Given the description of an element on the screen output the (x, y) to click on. 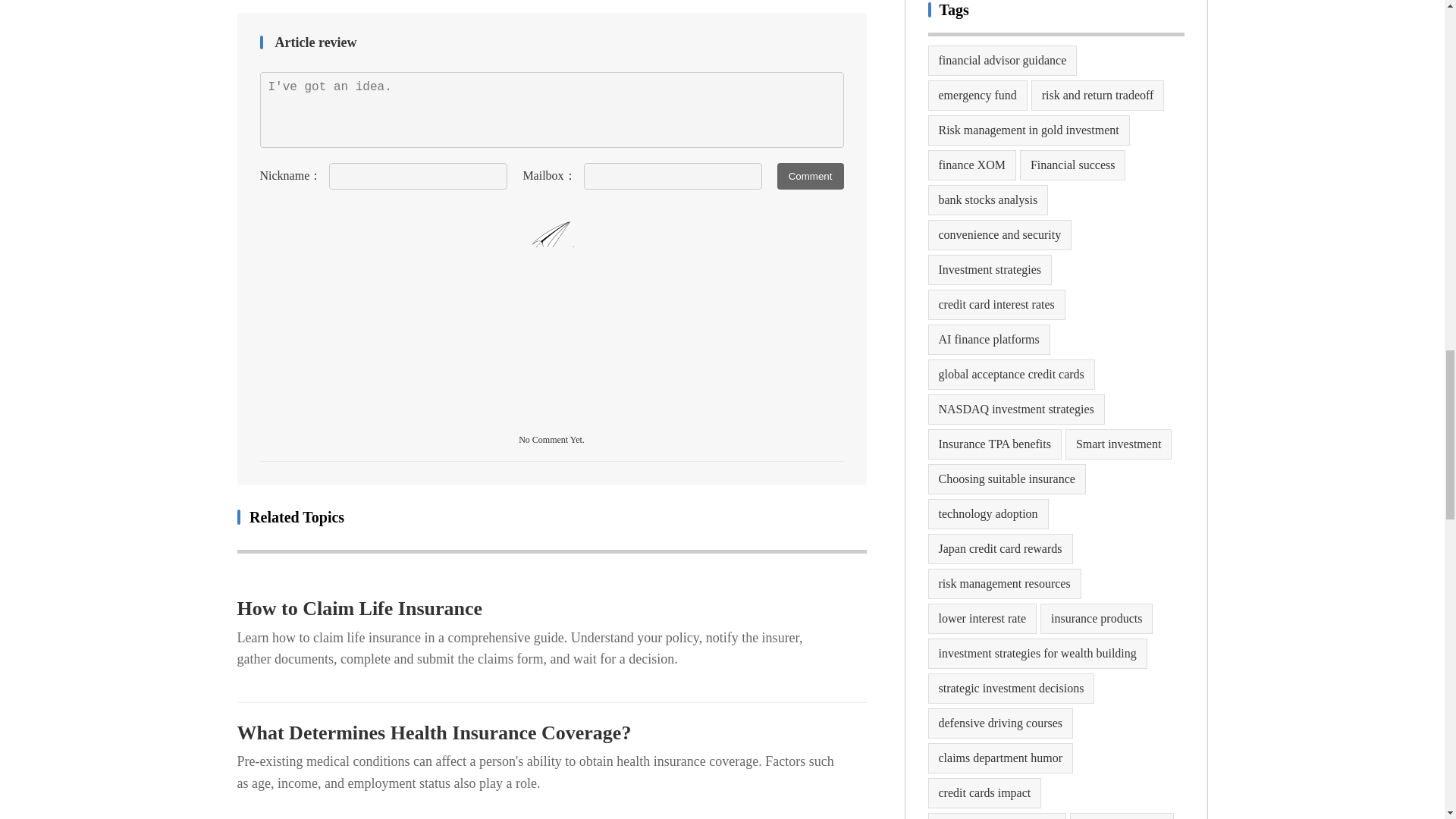
How to Claim Life Insurance (550, 608)
Comment (810, 175)
What Determines Health Insurance Coverage? (550, 732)
What Determines Health Insurance Coverage? (550, 732)
How to Claim Life Insurance (550, 608)
